Given the description of an element on the screen output the (x, y) to click on. 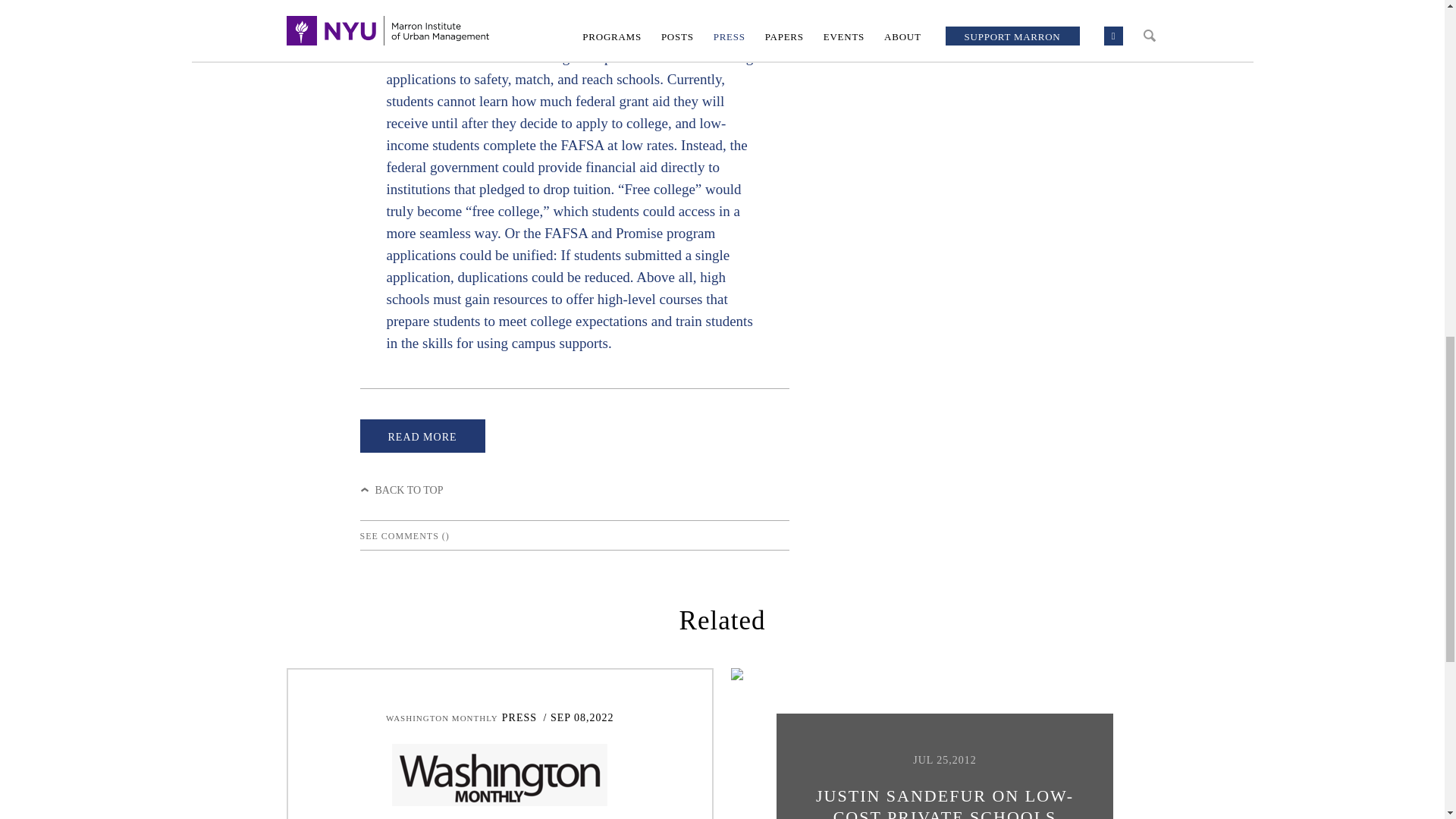
READ MORE (421, 435)
BACK TO TOP (400, 490)
Back to top (400, 490)
